Given the description of an element on the screen output the (x, y) to click on. 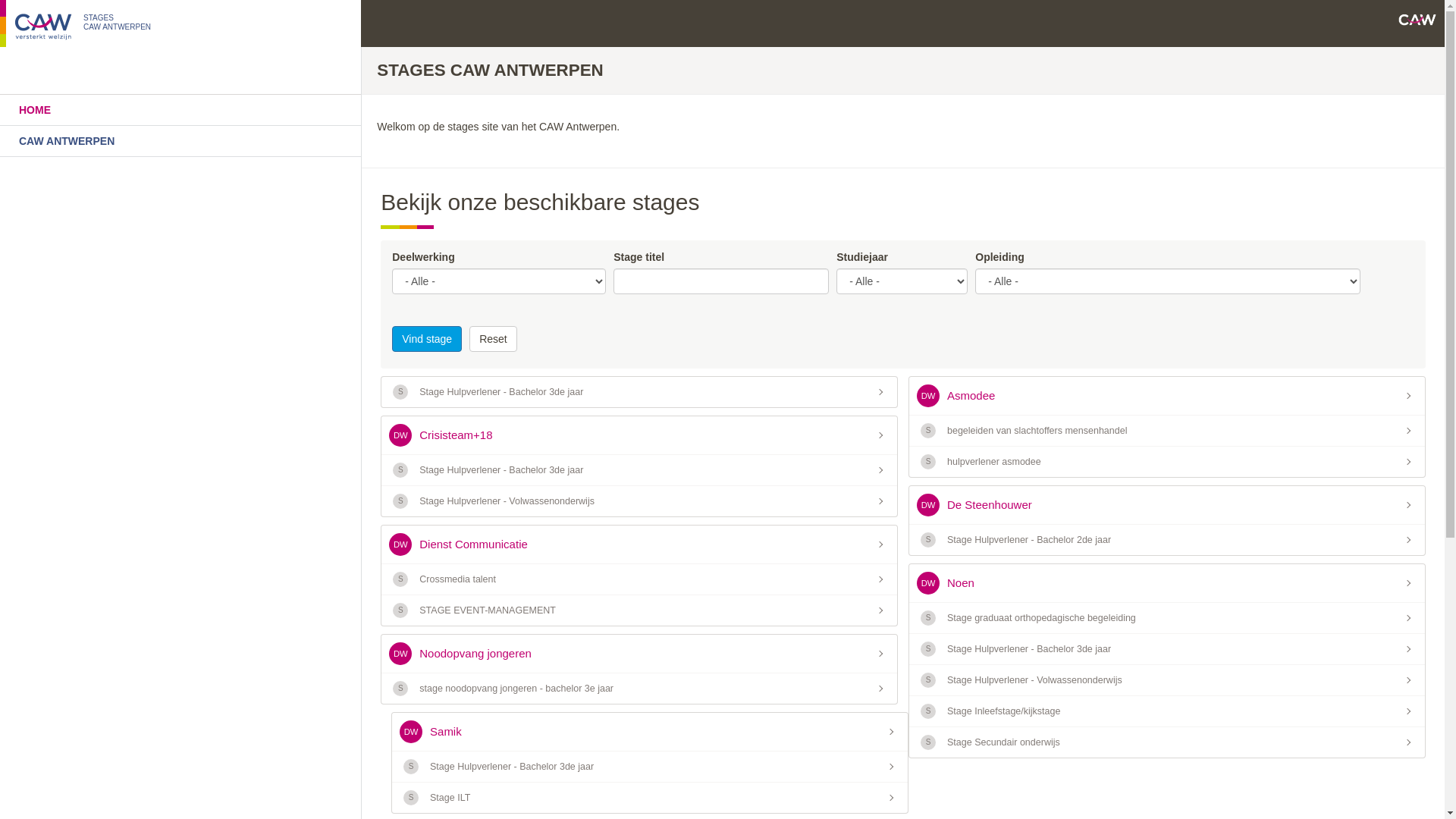
Stage Hulpverlener - Bachelor 3de jaar Element type: text (1166, 649)
Stage ILT Element type: text (649, 797)
Stage Secundair onderwijs Element type: text (1166, 742)
Website CAW Antwerpen Element type: hover (1417, 18)
Samik Element type: text (649, 731)
Overslaan en naar de inhoud gaan Element type: text (0, 0)
Stage Hulpverlener - Bachelor 3de jaar Element type: text (639, 470)
Stage Hulpverlener - Volwassenonderwijs Element type: text (639, 501)
Home Element type: hover (45, 30)
Crossmedia talent Element type: text (639, 579)
Dienst Communicatie Element type: text (639, 544)
Noodopvang jongeren Element type: text (639, 653)
Asmodee Element type: text (1166, 395)
Noen Element type: text (1166, 583)
Reset Element type: text (493, 338)
De Steenhouwer Element type: text (1166, 505)
STAGES
CAW ANTWERPEN Element type: text (117, 21)
hulpverlener asmodee Element type: text (1166, 461)
stage noodopvang jongeren - bachelor 3e jaar Element type: text (639, 688)
Stage Hulpverlener - Volwassenonderwijs Element type: text (1166, 680)
Stage Inleefstage/kijkstage Element type: text (1166, 711)
Stage graduaat orthopedagische begeleiding Element type: text (1166, 617)
Stage Hulpverlener - Bachelor 3de jaar Element type: text (649, 766)
Vind stage Element type: text (426, 338)
Crisisteam+18 Element type: text (639, 435)
Stage Hulpverlener - Bachelor 3de jaar Element type: text (639, 391)
begeleiden van slachtoffers mensenhandel Element type: text (1166, 430)
Stage Hulpverlener - Bachelor 2de jaar Element type: text (1166, 539)
STAGE EVENT-MANAGEMENT Element type: text (639, 610)
HOME Element type: text (180, 109)
CAW ANTWERPEN Element type: text (180, 140)
